Given the description of an element on the screen output the (x, y) to click on. 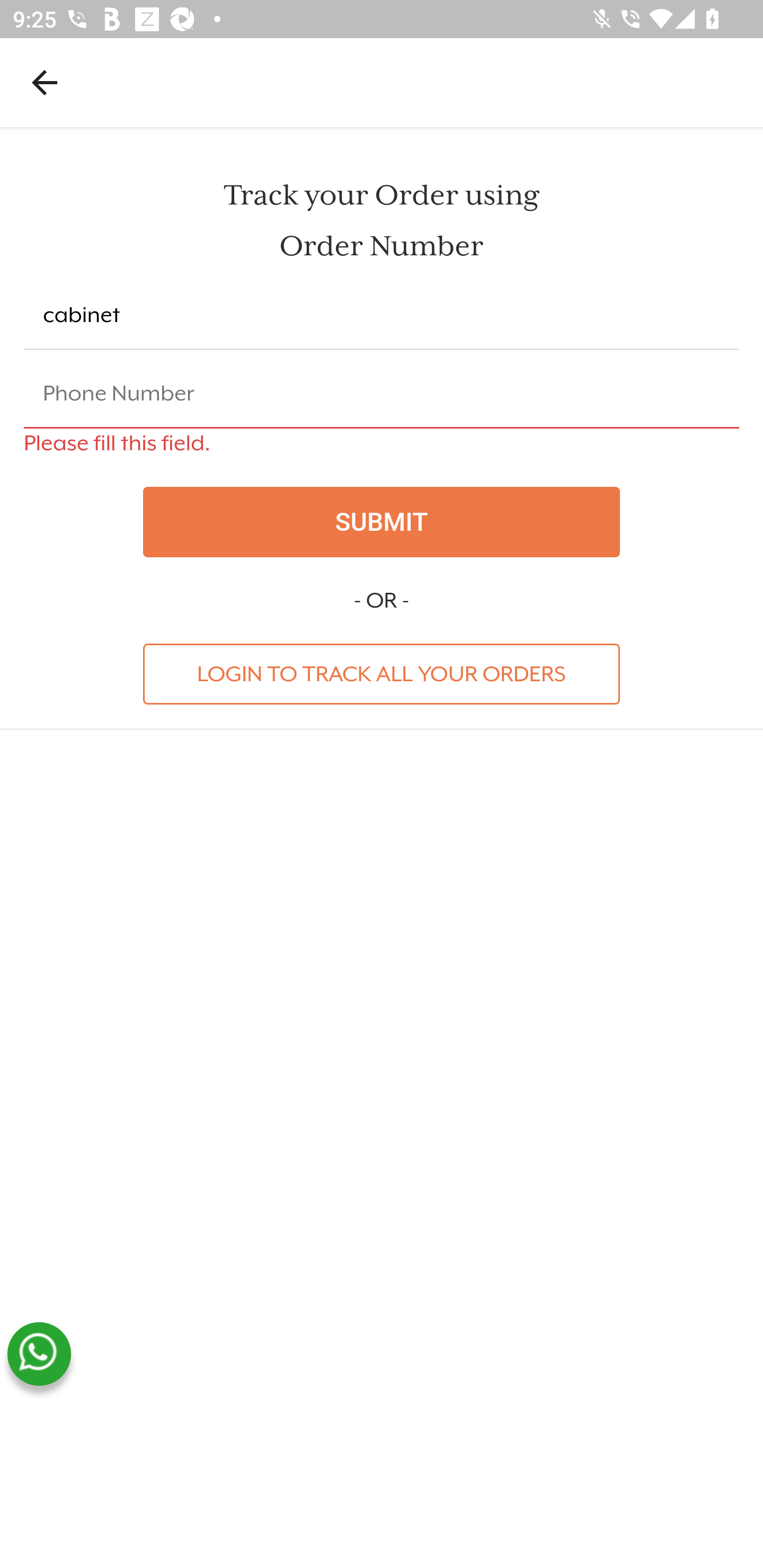
Navigate up (44, 82)
cabinet (381, 315)
SUBMIT (381, 522)
LOGIN TO TRACK ALL YOUR ORDERS (381, 673)
whatsapp (38, 1353)
